Given the description of an element on the screen output the (x, y) to click on. 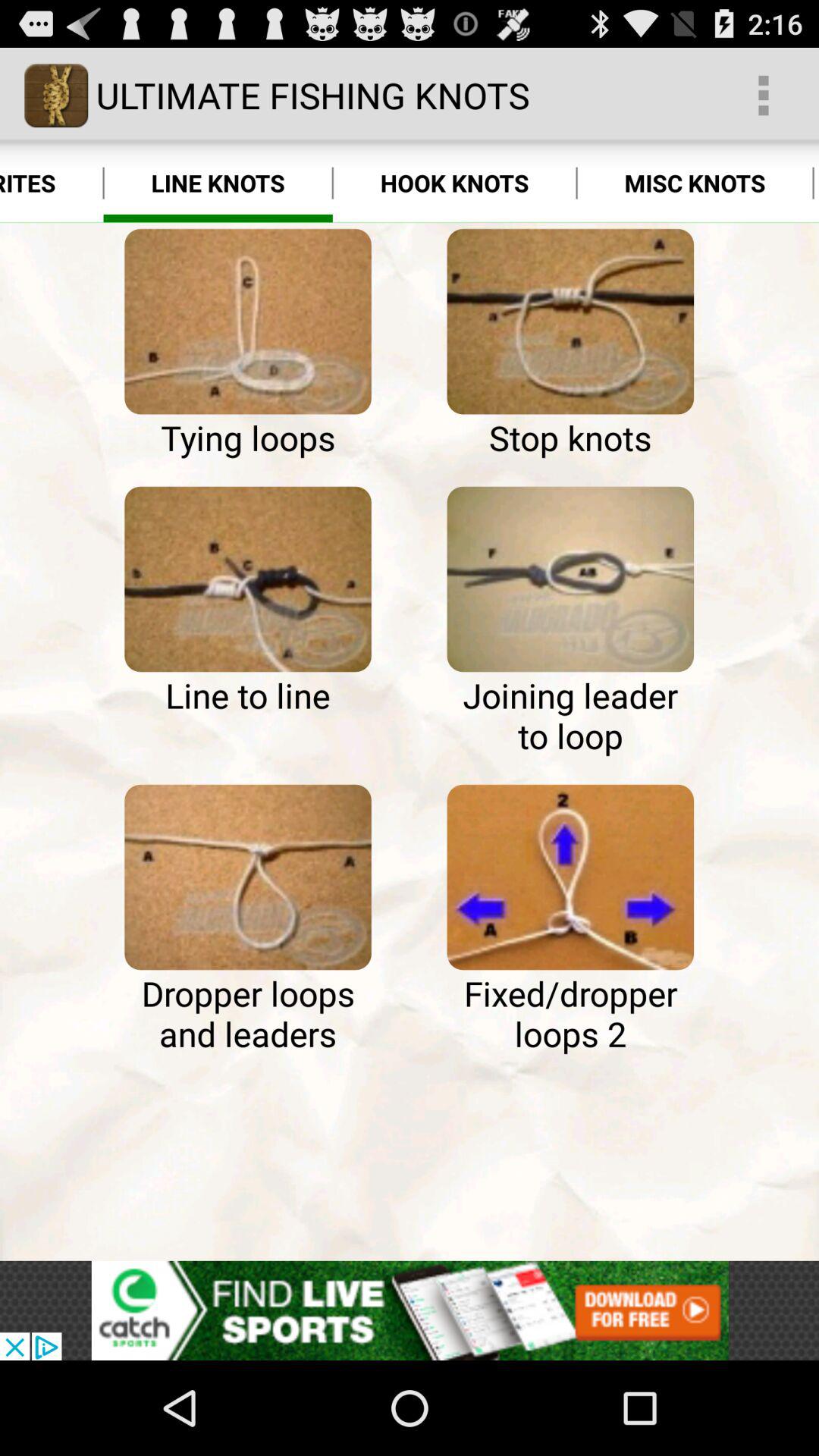
how to see more (247, 578)
